Given the description of an element on the screen output the (x, y) to click on. 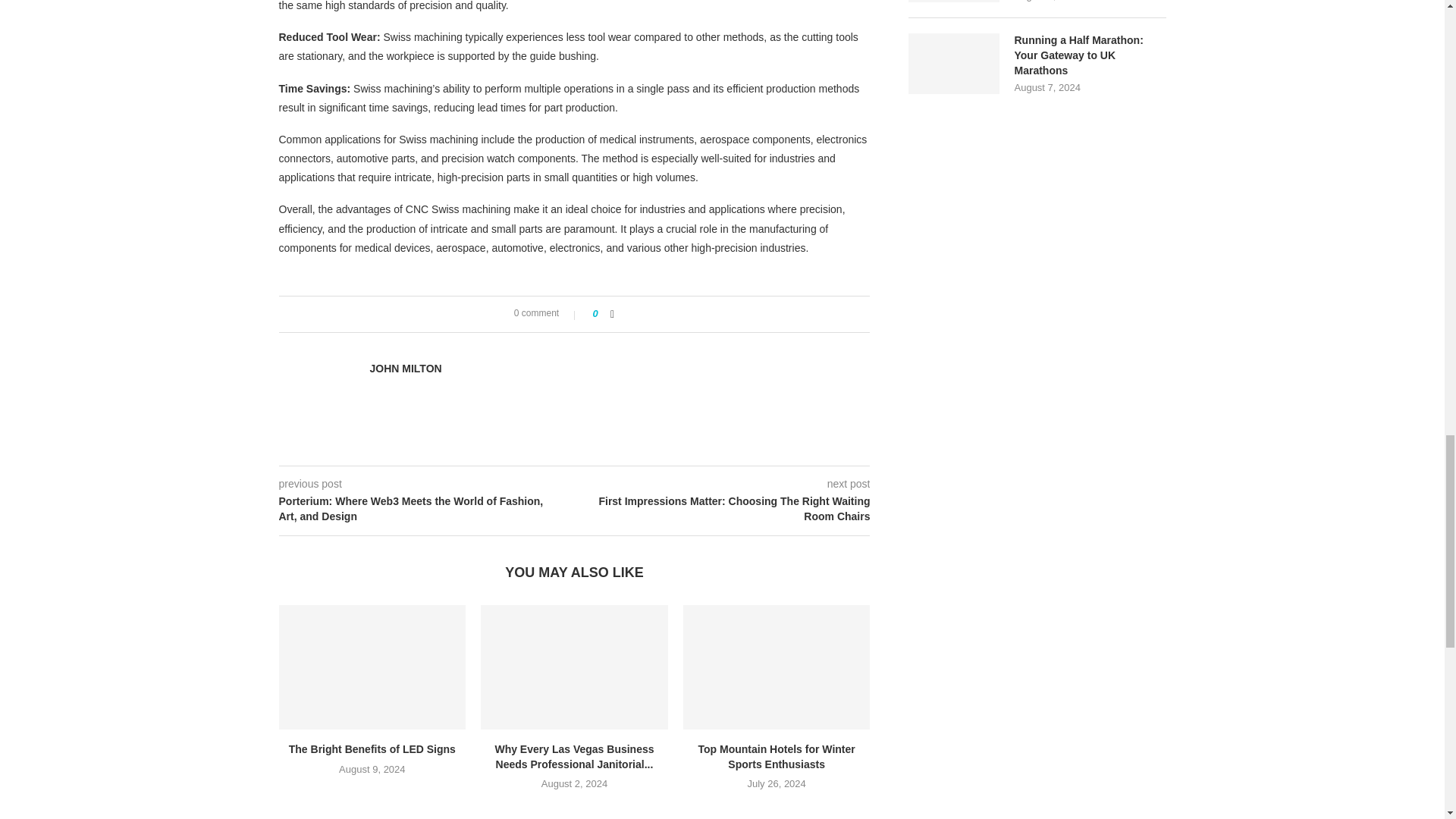
The Bright Benefits of LED Signs (372, 667)
Top Mountain Hotels for Winter Sports Enthusiasts (776, 667)
Author John Milton (405, 368)
